Given the description of an element on the screen output the (x, y) to click on. 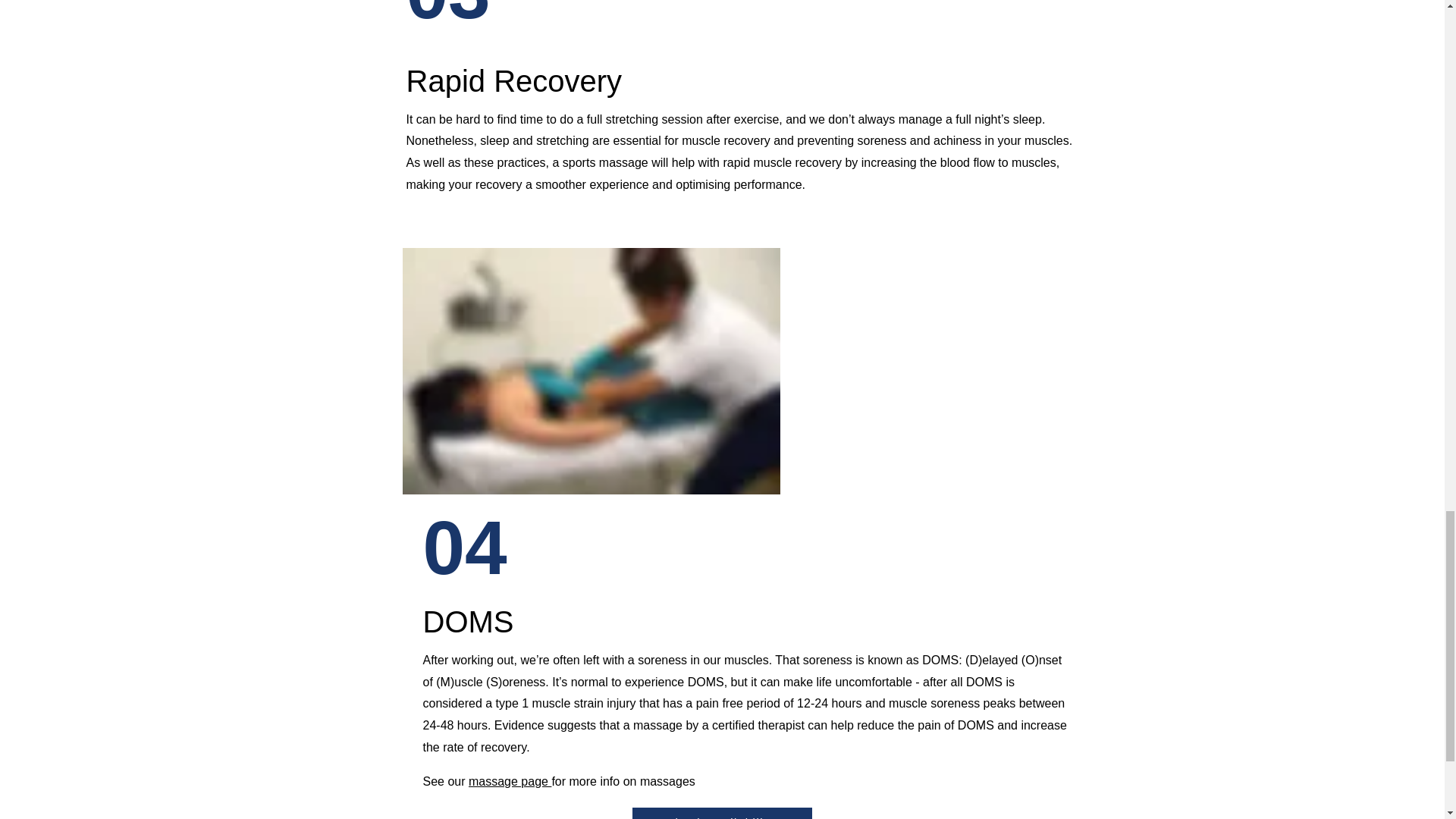
Check Availability (721, 813)
for more info on massages  (624, 780)
massage page (509, 780)
See our (445, 780)
